Given the description of an element on the screen output the (x, y) to click on. 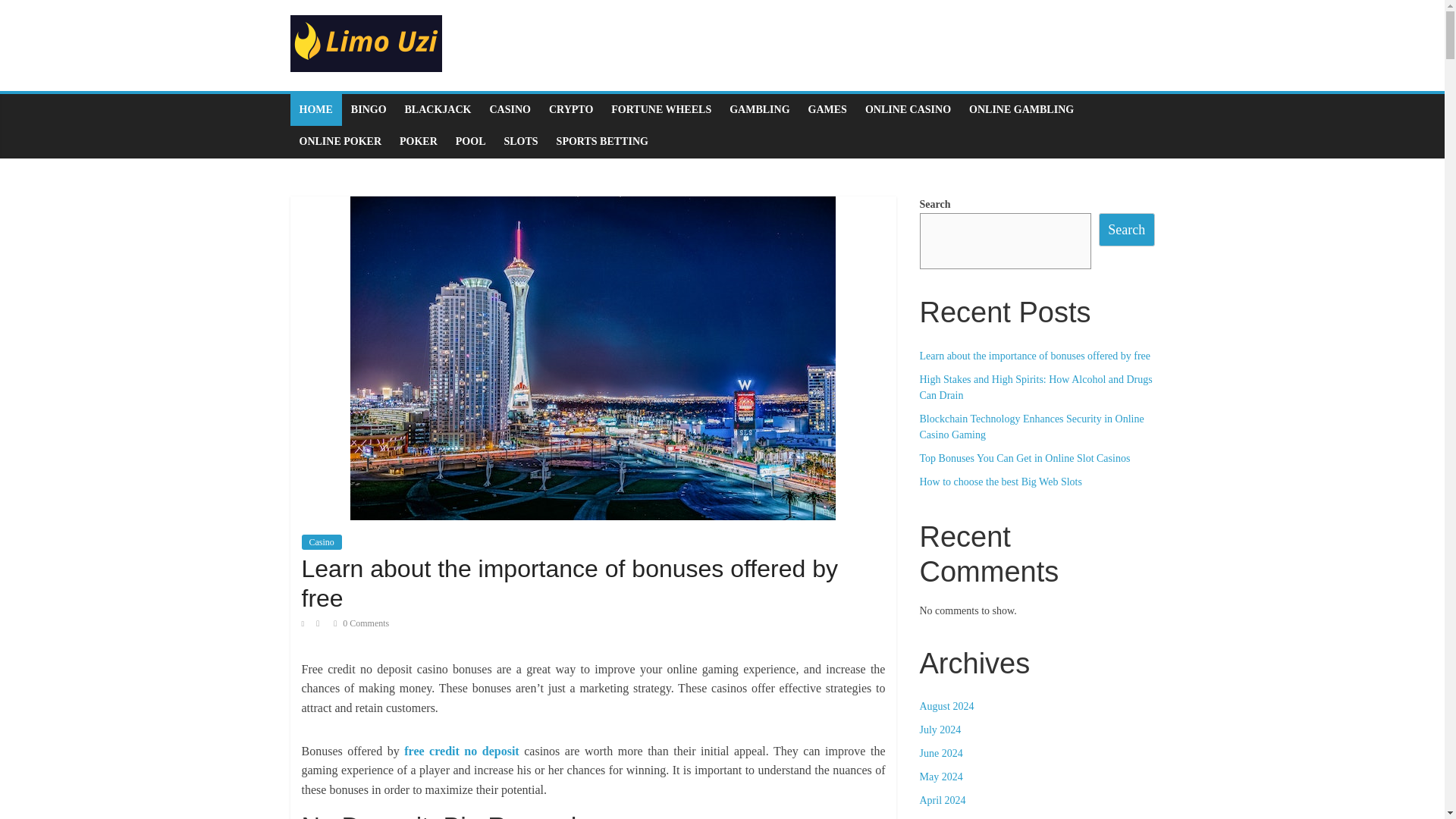
HOME (314, 110)
Casino (321, 541)
Learn about the importance of bonuses offered by free (569, 582)
0 Comments (360, 623)
BLACKJACK (438, 110)
GAMES (827, 110)
SPORTS BETTING (602, 142)
POKER (418, 142)
CRYPTO (571, 110)
ONLINE POKER (339, 142)
